Given the description of an element on the screen output the (x, y) to click on. 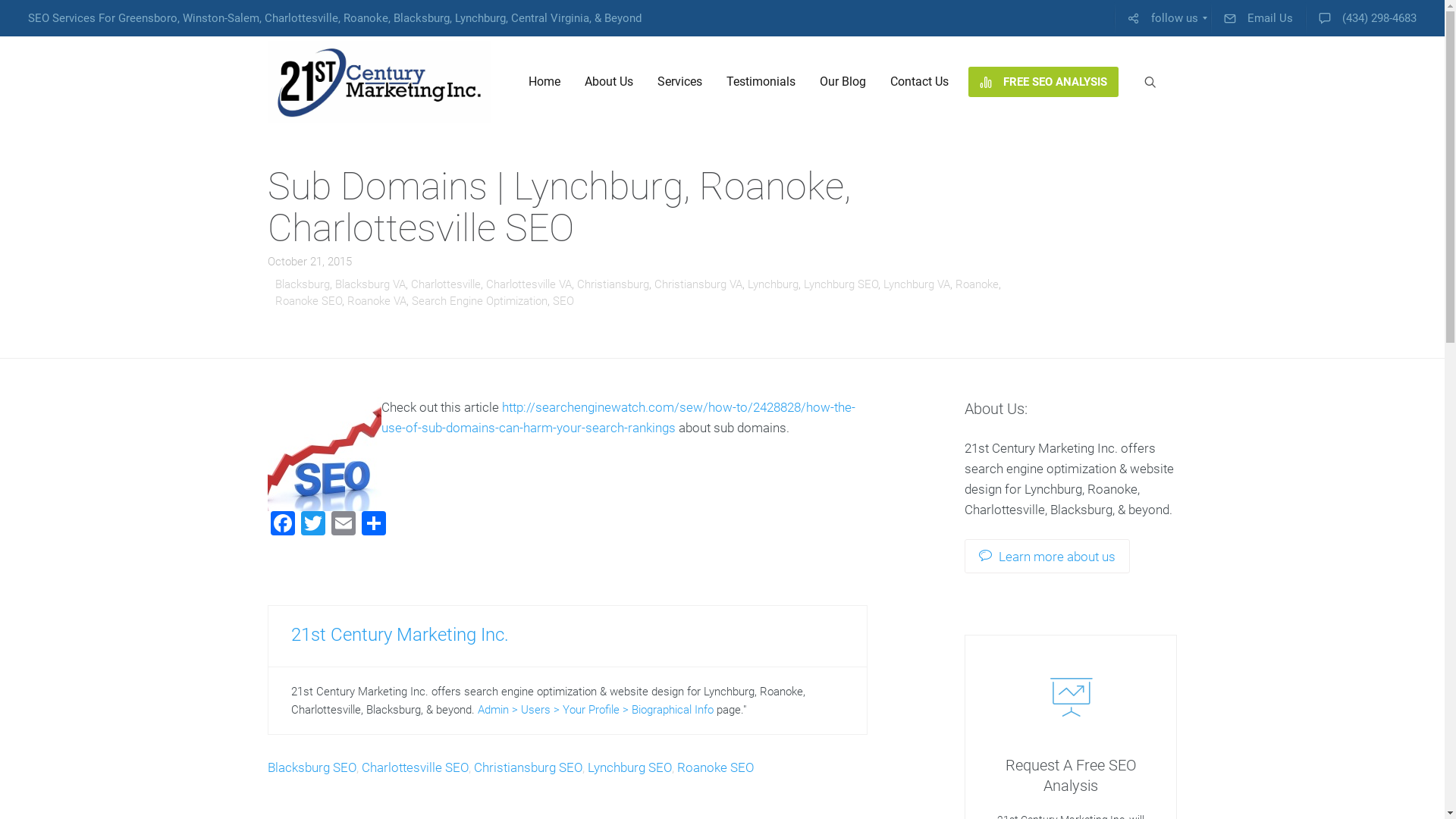
Roanoke Element type: text (976, 284)
Learn more about us Element type: text (1046, 556)
Email Us Element type: text (1258, 18)
Roanoke SEO Element type: text (307, 300)
SEO Element type: text (562, 300)
Lynchburg SEO Element type: text (840, 284)
21st Century Marketing Inc. Element type: text (399, 634)
Facebook Element type: text (281, 525)
Home Element type: text (543, 81)
Email Element type: text (342, 525)
Our Blog Element type: text (841, 81)
Roanoke SEO Element type: text (714, 767)
About Us Element type: text (607, 81)
Lynchburg SEO Element type: text (628, 767)
follow us Element type: text (1162, 18)
Charlottesville Element type: text (445, 284)
Lynchburg Element type: text (772, 284)
Contact Us Element type: text (919, 81)
SEO | Charlottesville, Roanoke, Blacksburg, Lynchburg VA Element type: hover (378, 81)
Charlottesville SEO Element type: text (413, 767)
Search Element type: text (13, 14)
Lynchburg VA Element type: text (915, 284)
Christiansburg VA Element type: text (697, 284)
Testimonials Element type: text (760, 81)
Christiansburg Element type: text (612, 284)
(434) 298-4683 Element type: text (1367, 18)
Search Engine Optimization Element type: text (478, 300)
Charlottesville VA Element type: text (528, 284)
Blacksburg VA Element type: text (370, 284)
Services Element type: text (678, 81)
Christiansburg SEO Element type: text (527, 767)
Admin > Users > Your Profile > Biographical Info Element type: text (595, 709)
Blacksburg SEO Element type: text (310, 767)
Blacksburg Element type: text (301, 284)
Share Element type: text (372, 525)
Twitter Element type: text (312, 525)
Roanoke VA Element type: text (376, 300)
FREE SEO ANALYSIS Element type: text (1042, 81)
